Given the description of an element on the screen output the (x, y) to click on. 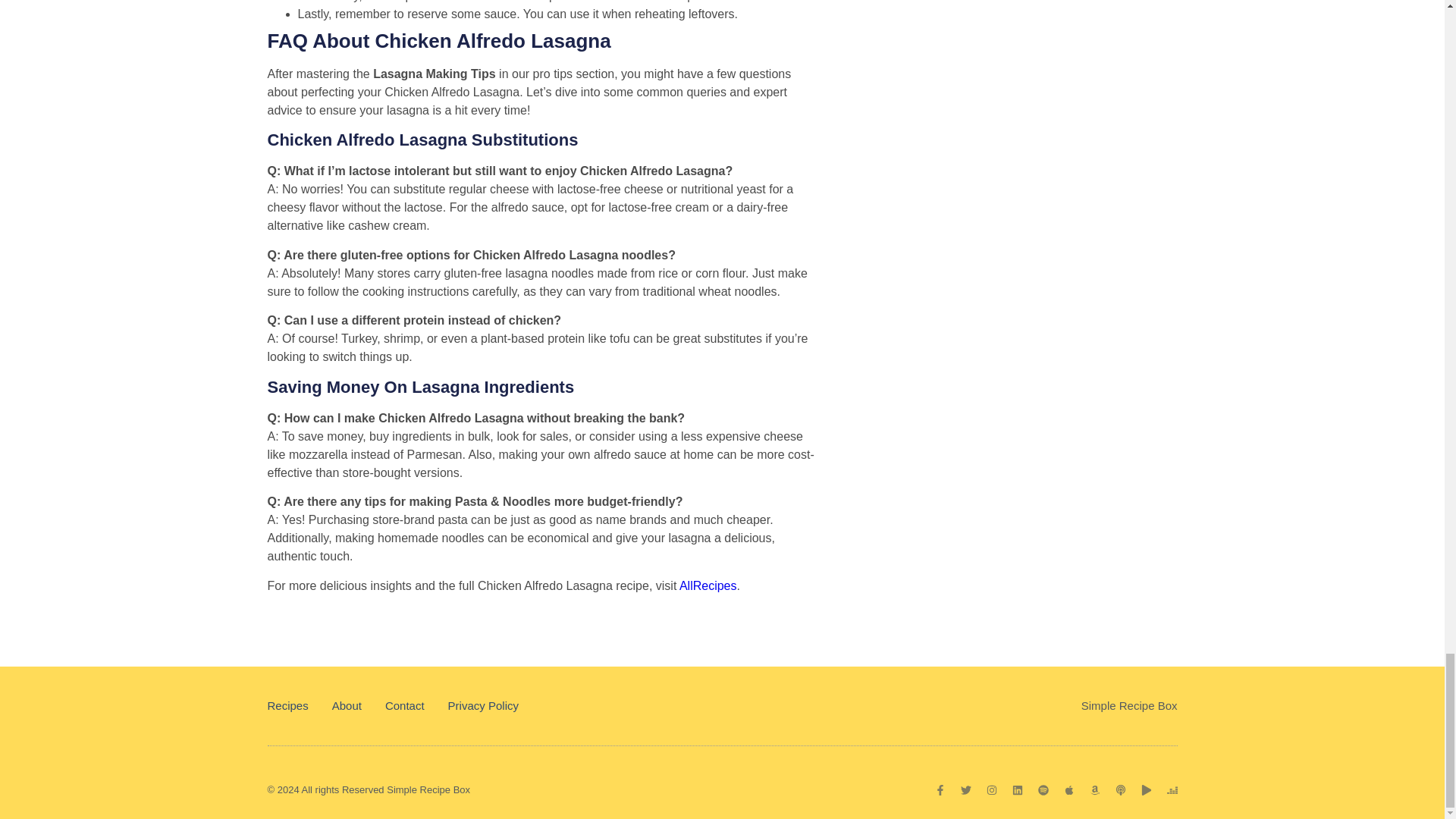
AllRecipes (707, 585)
